Given the description of an element on the screen output the (x, y) to click on. 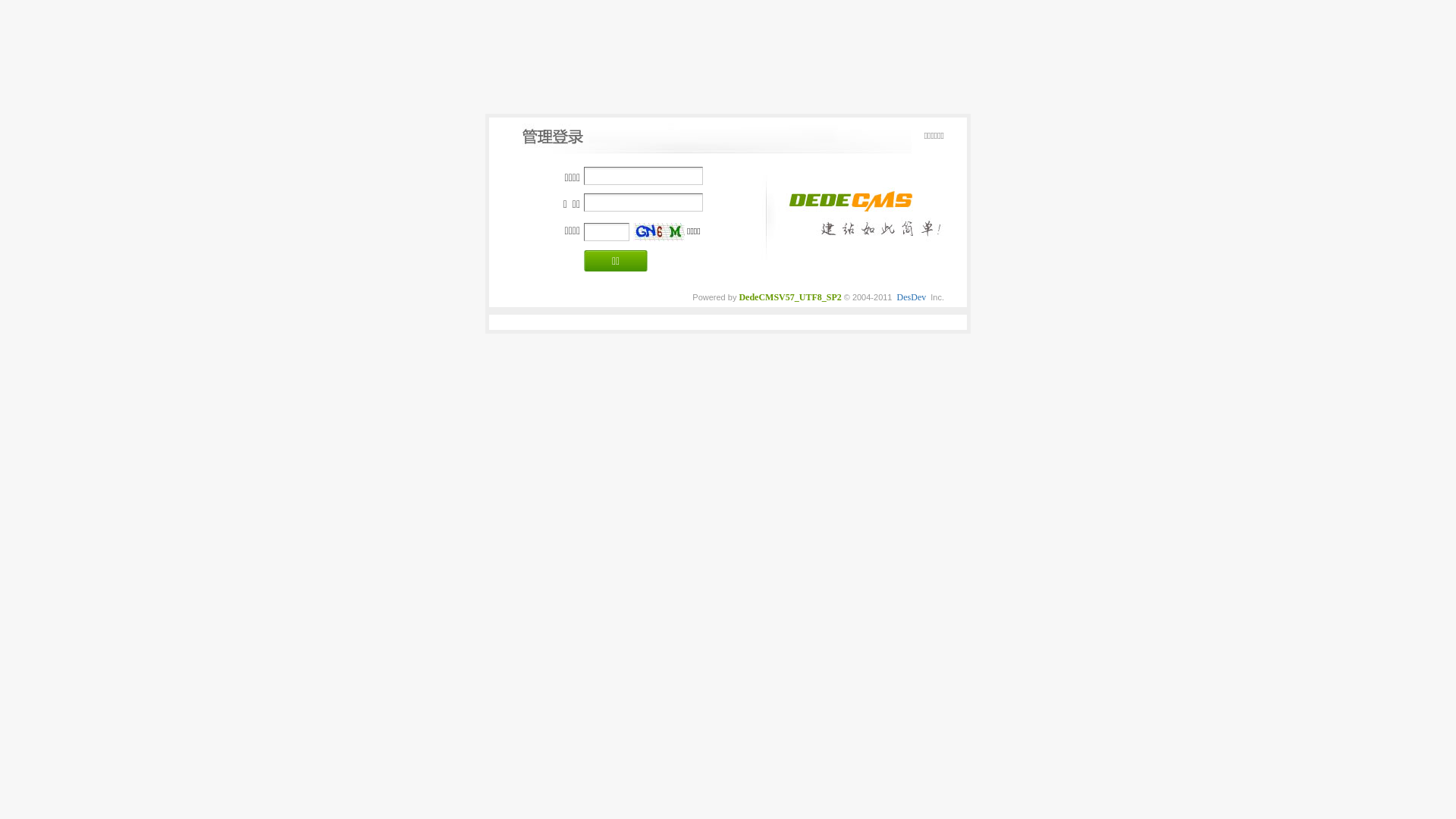
DedeCMSV57_UTF8_SP2 Element type: text (789, 296)
DesDev Element type: text (911, 296)
